Given the description of an element on the screen output the (x, y) to click on. 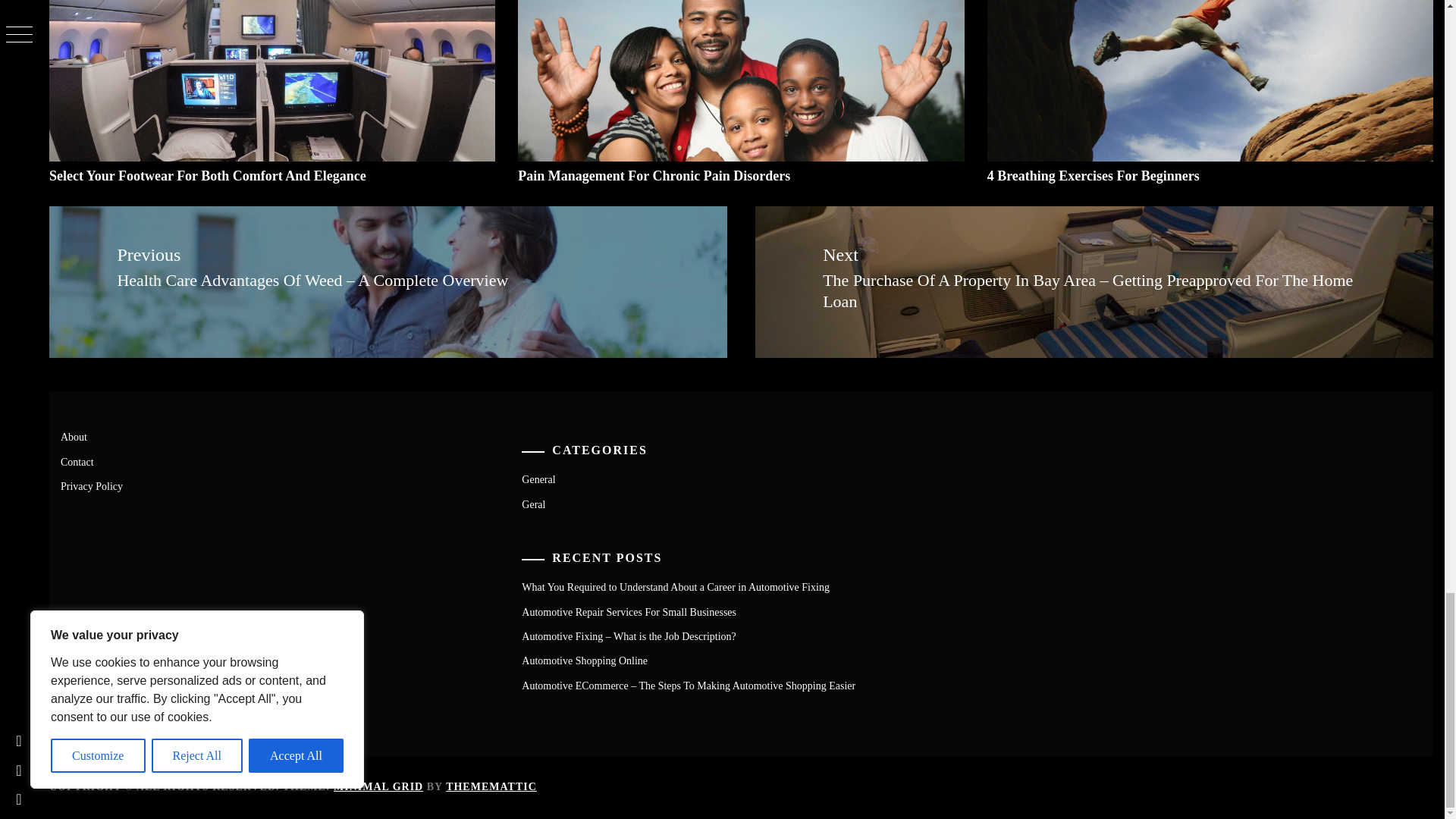
Select Your Footwear For Both Comfort And Elegance (207, 175)
